Given the description of an element on the screen output the (x, y) to click on. 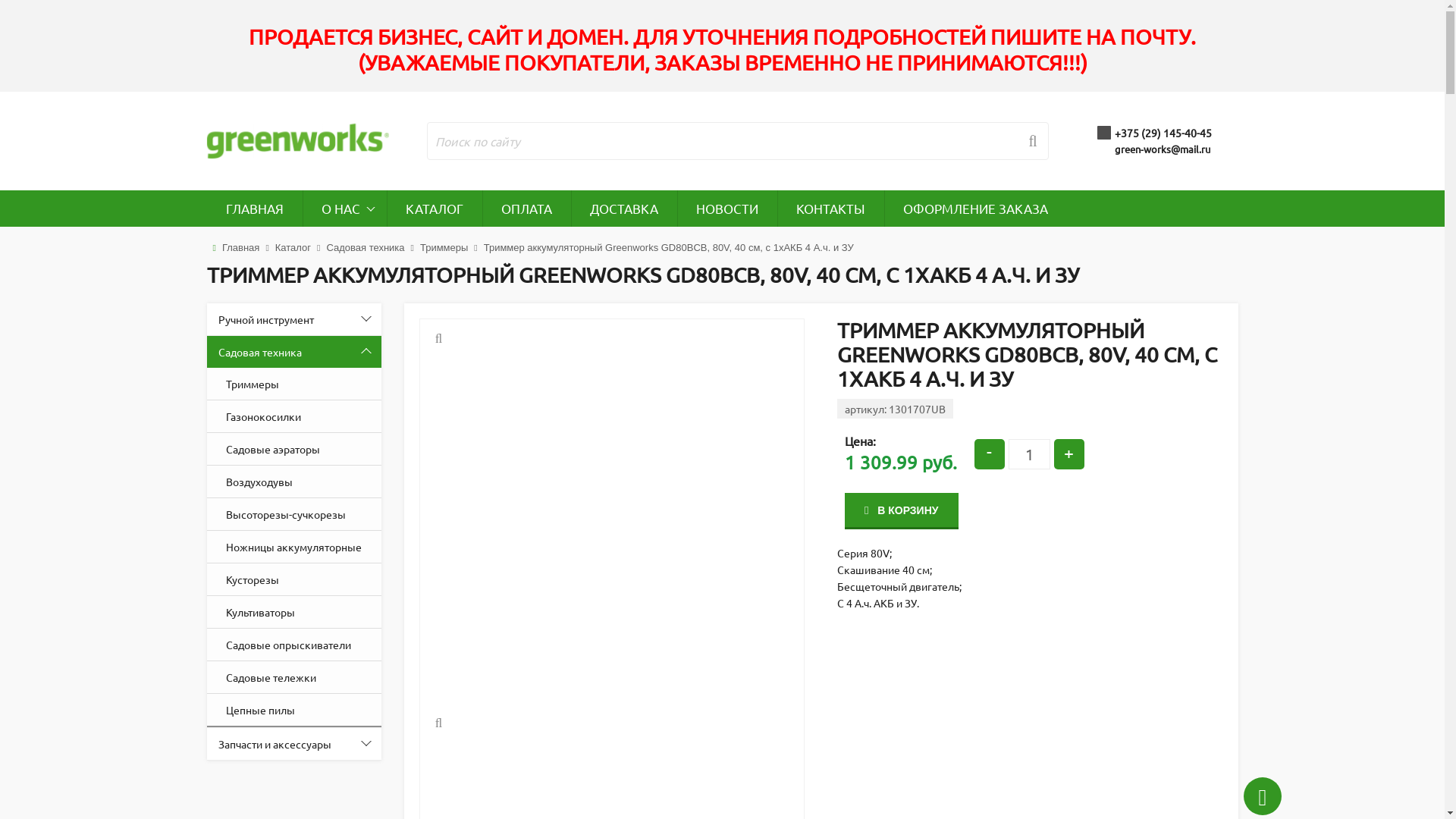
+ Element type: text (1069, 453)
- Element type: text (989, 453)
+375 (29) 145-40-45 Element type: text (1164, 132)
green-works@mail.ru Element type: text (1164, 148)
